Given the description of an element on the screen output the (x, y) to click on. 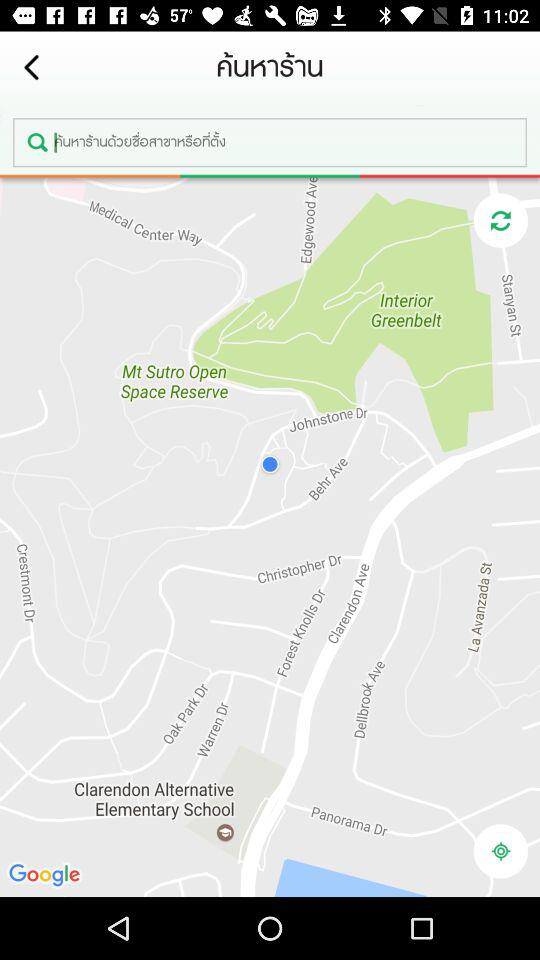
go to my location (500, 851)
